Given the description of an element on the screen output the (x, y) to click on. 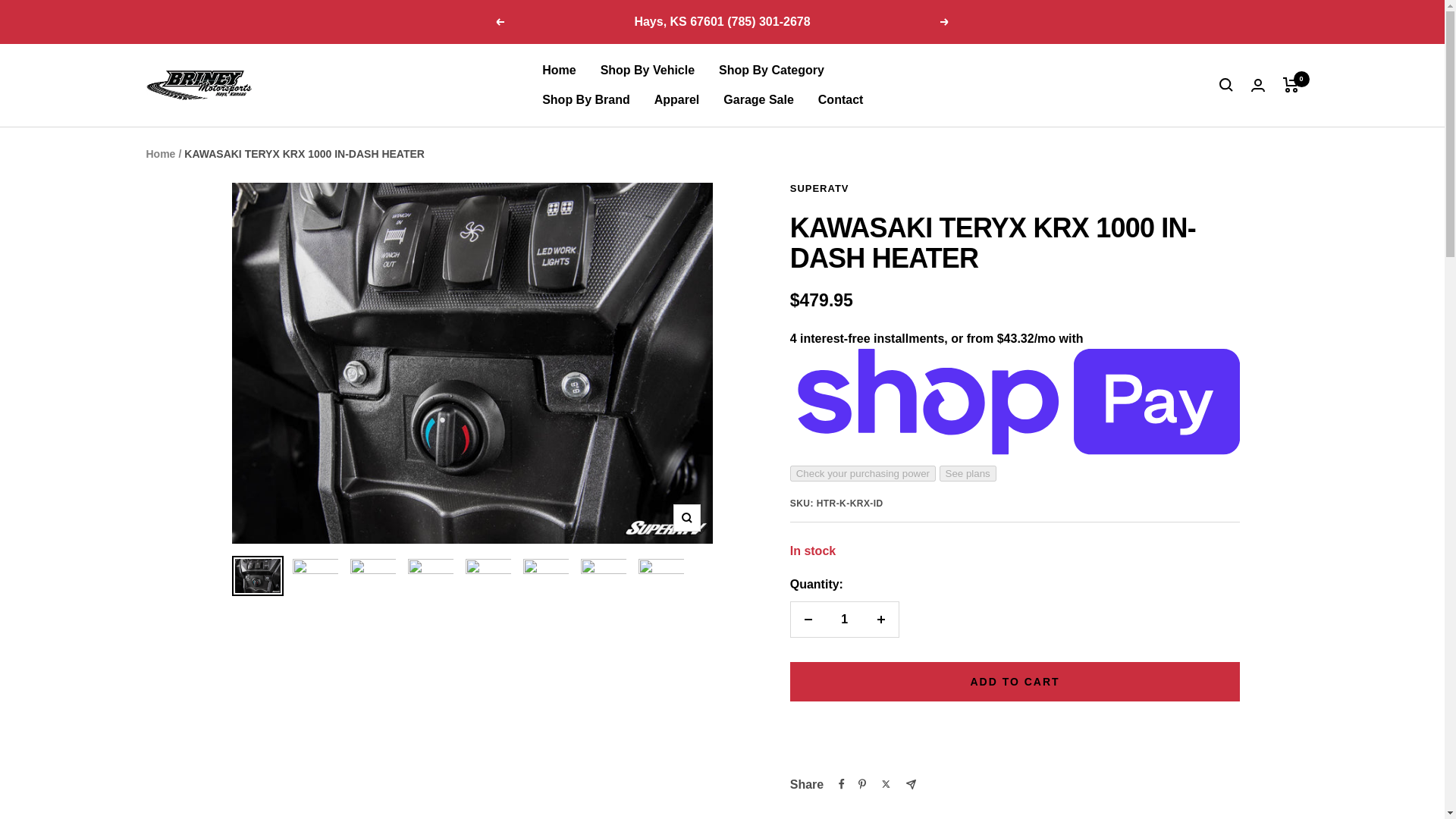
Garage Sale (758, 99)
Shop By Vehicle (646, 70)
Next (944, 21)
Apparel (676, 99)
Home (558, 70)
Home (159, 153)
1 (844, 619)
Shop By Brand (585, 99)
Briney Motorsports (198, 84)
Shop By Category (771, 70)
0 (1290, 84)
Contact (840, 99)
Previous (499, 21)
Zoom (686, 517)
